Given the description of an element on the screen output the (x, y) to click on. 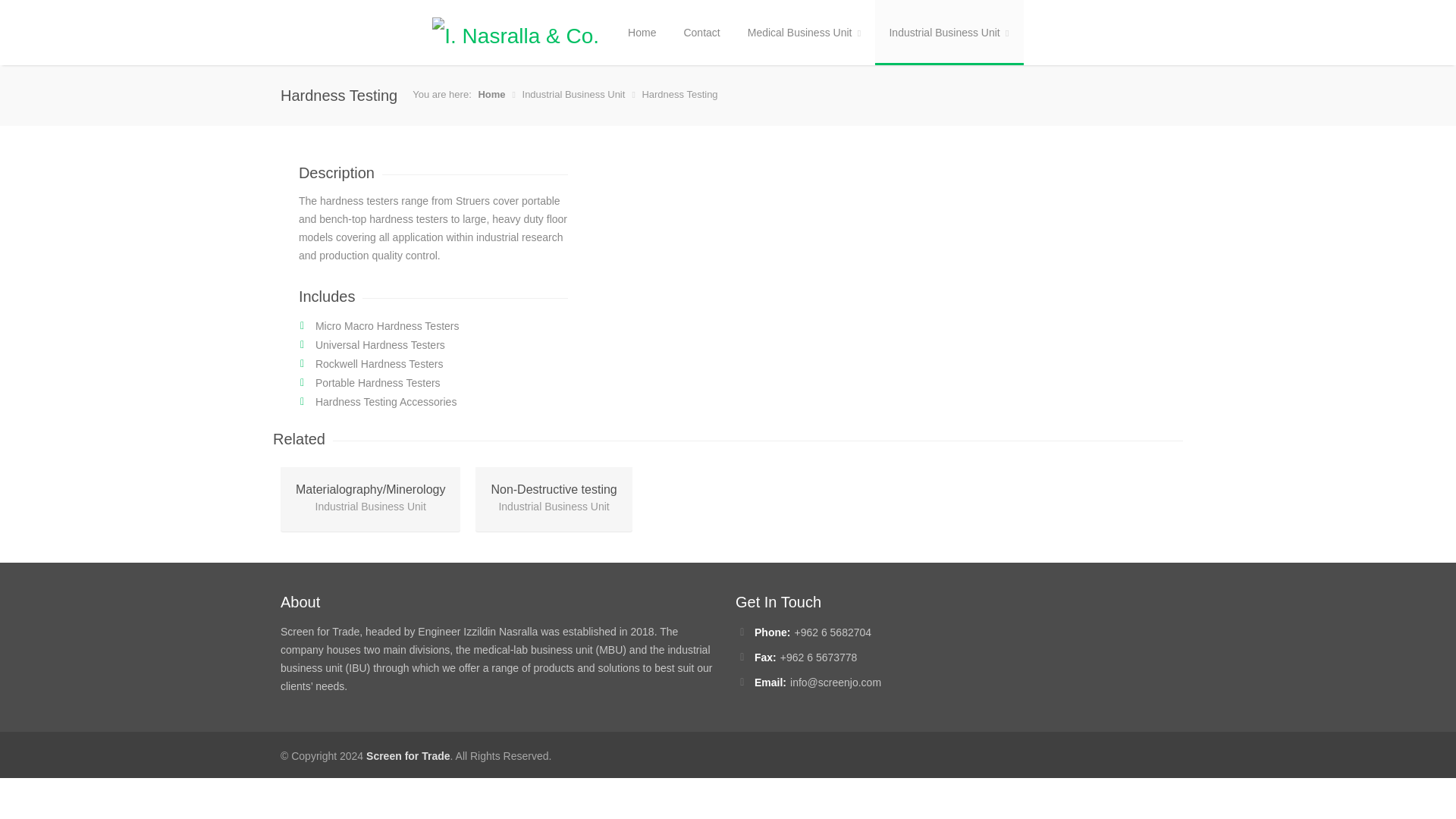
Industrial Business Unit (949, 32)
Screen for Trade (407, 756)
Contact (701, 32)
Home (491, 93)
Medical Business Unit (804, 32)
